Given the description of an element on the screen output the (x, y) to click on. 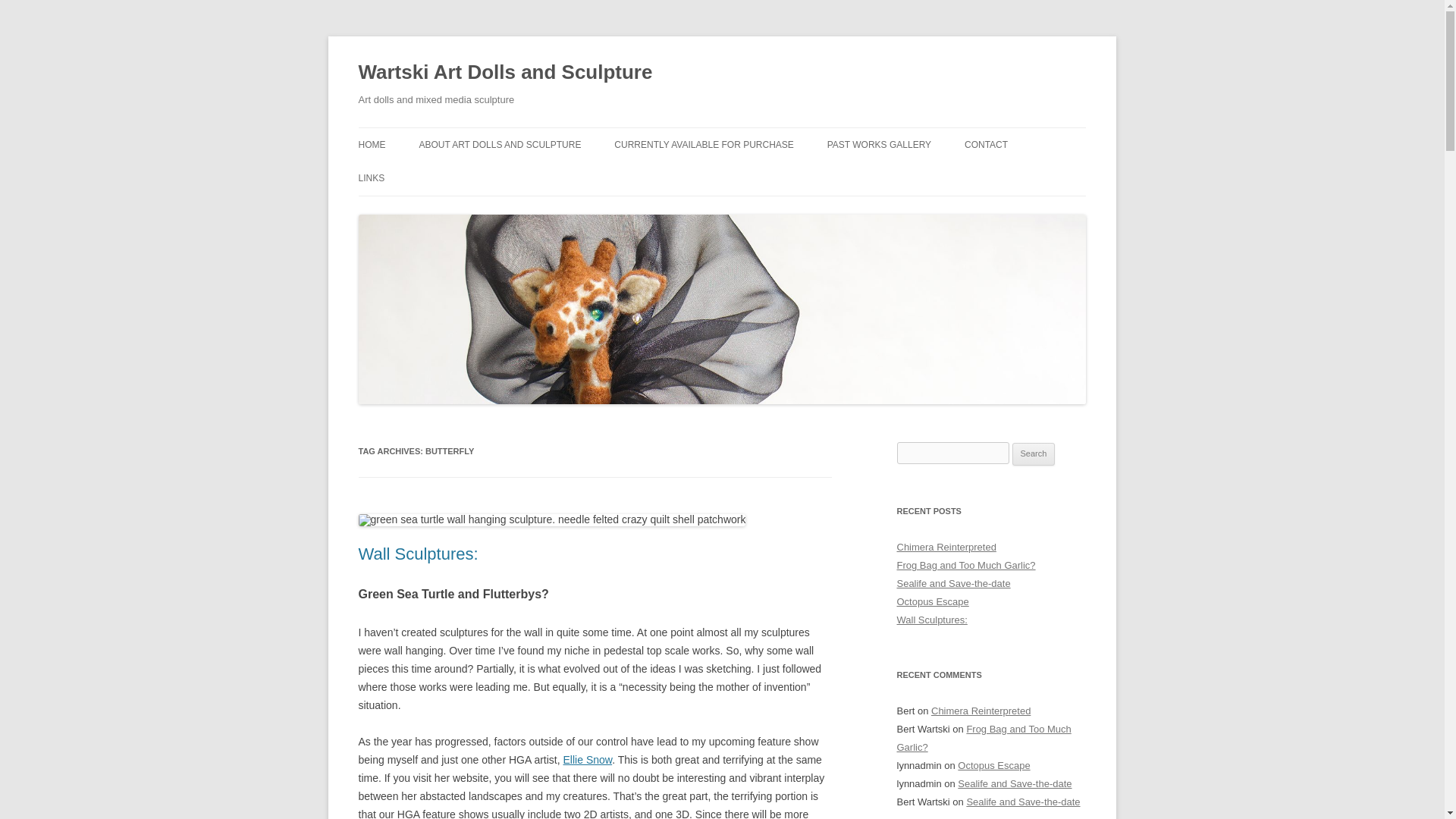
ABOUT ART DOLLS AND SCULPTURE (499, 144)
CONTACT (985, 144)
Ellie Snow (587, 759)
PAST WORKS GALLERY (879, 144)
Wartski Art Dolls and Sculpture (505, 72)
CURRENTLY AVAILABLE FOR PURCHASE (703, 144)
Wall Sculptures: (417, 553)
Search (1033, 454)
